Given the description of an element on the screen output the (x, y) to click on. 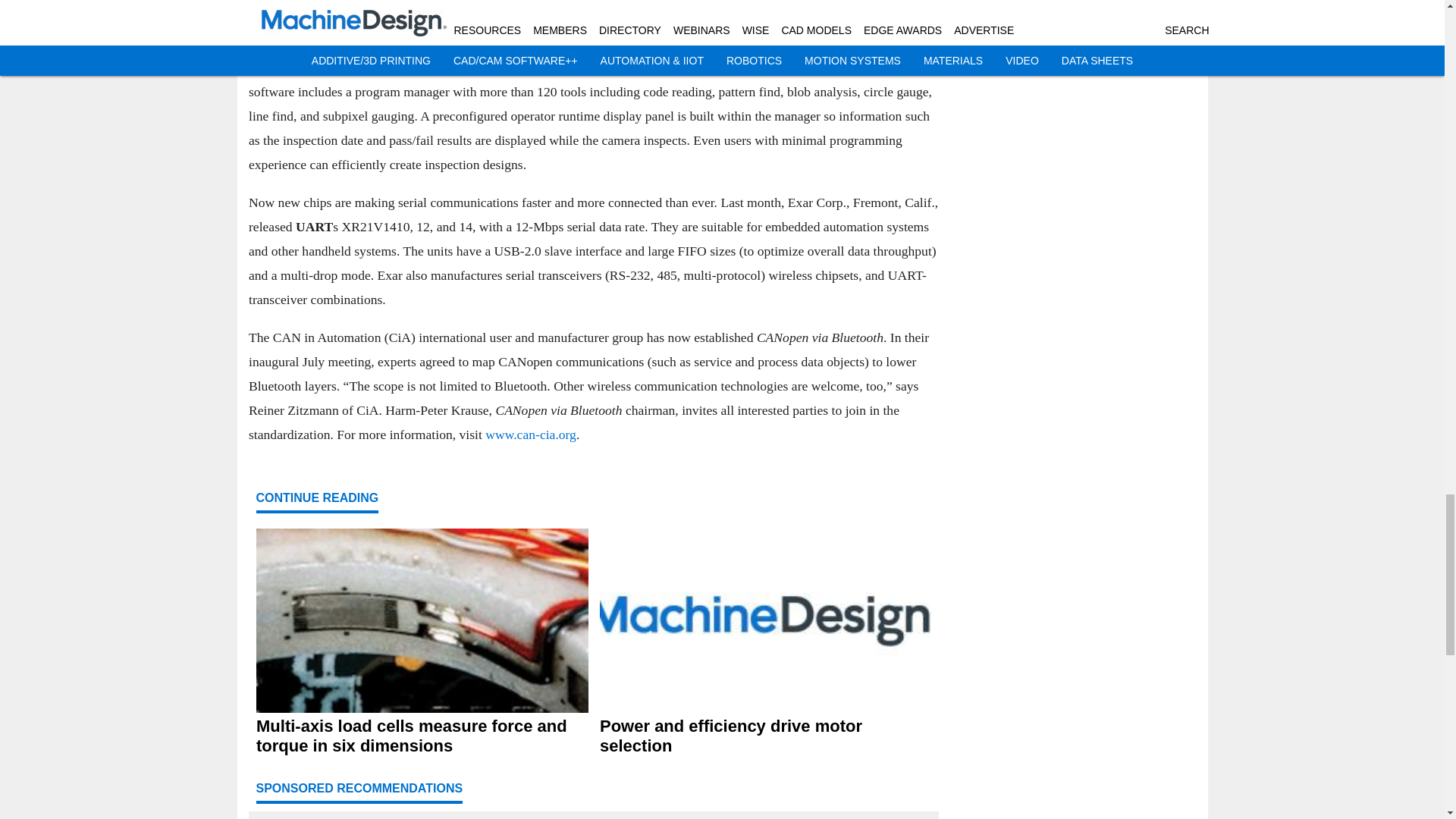
Power and efficiency drive motor selection (764, 735)
www.can-cia.org (530, 434)
